Given the description of an element on the screen output the (x, y) to click on. 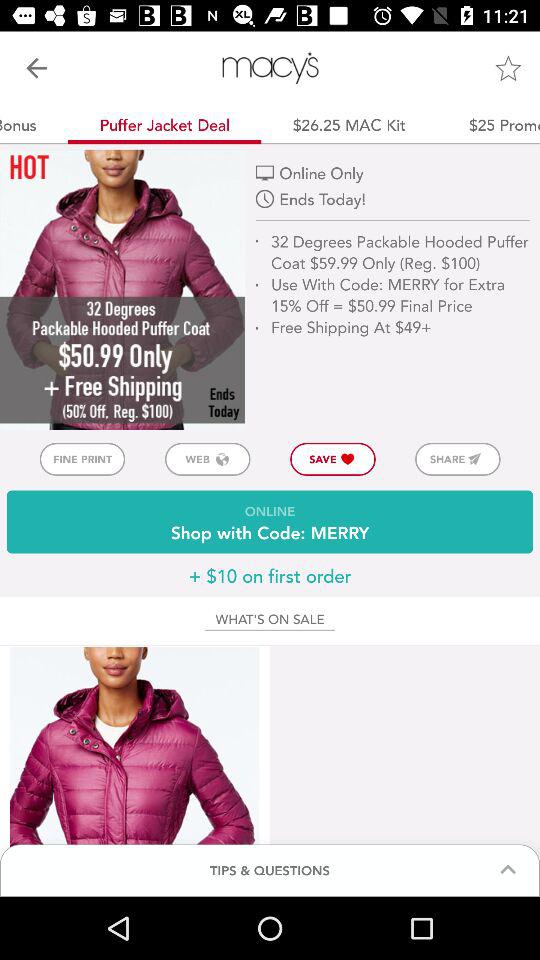
scroll until the web icon (207, 458)
